Given the description of an element on the screen output the (x, y) to click on. 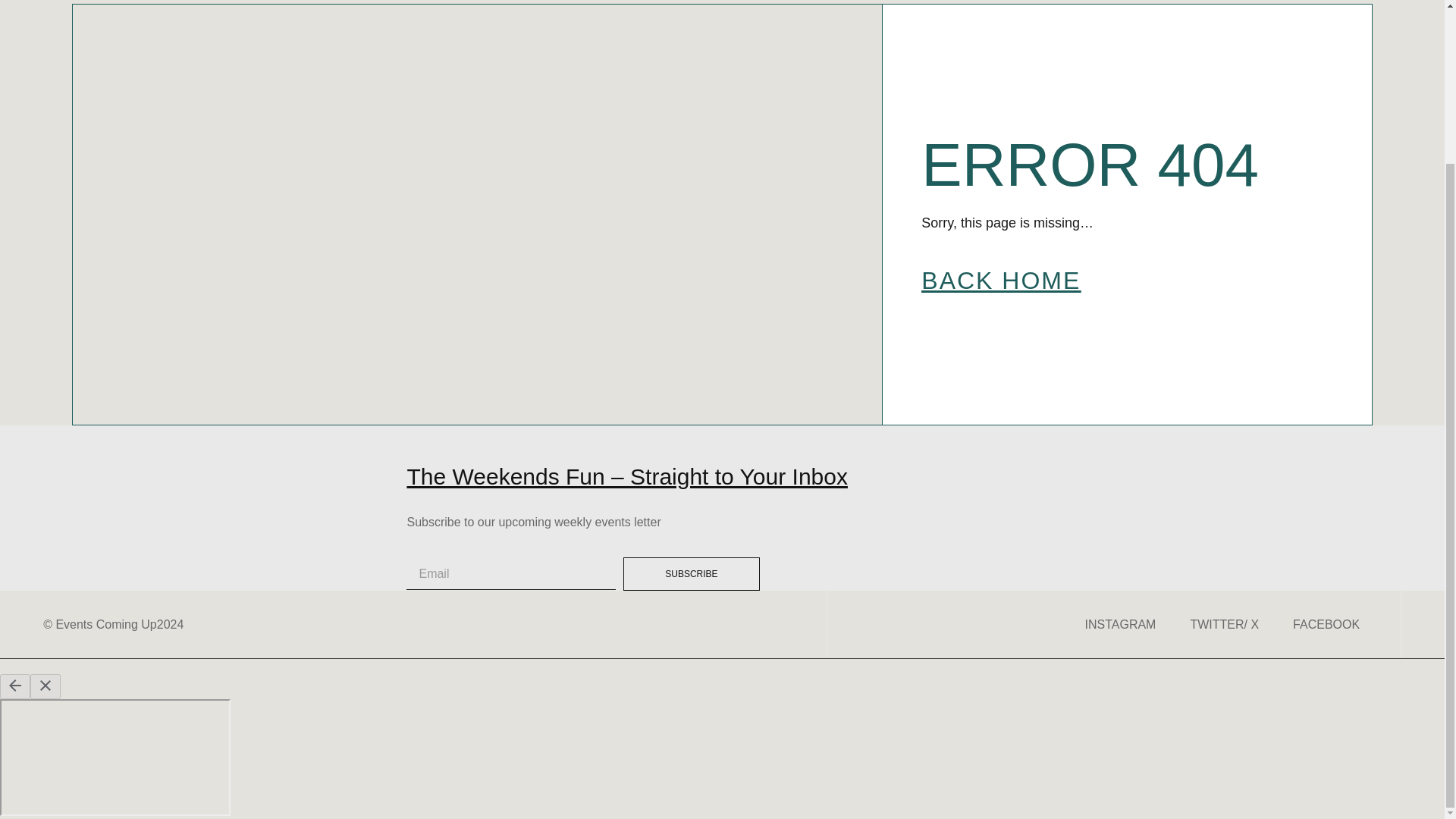
INSTAGRAM (1120, 624)
SUBSCRIBE (691, 573)
FACEBOOK (1325, 624)
BACK HOME (1000, 280)
